Given the description of an element on the screen output the (x, y) to click on. 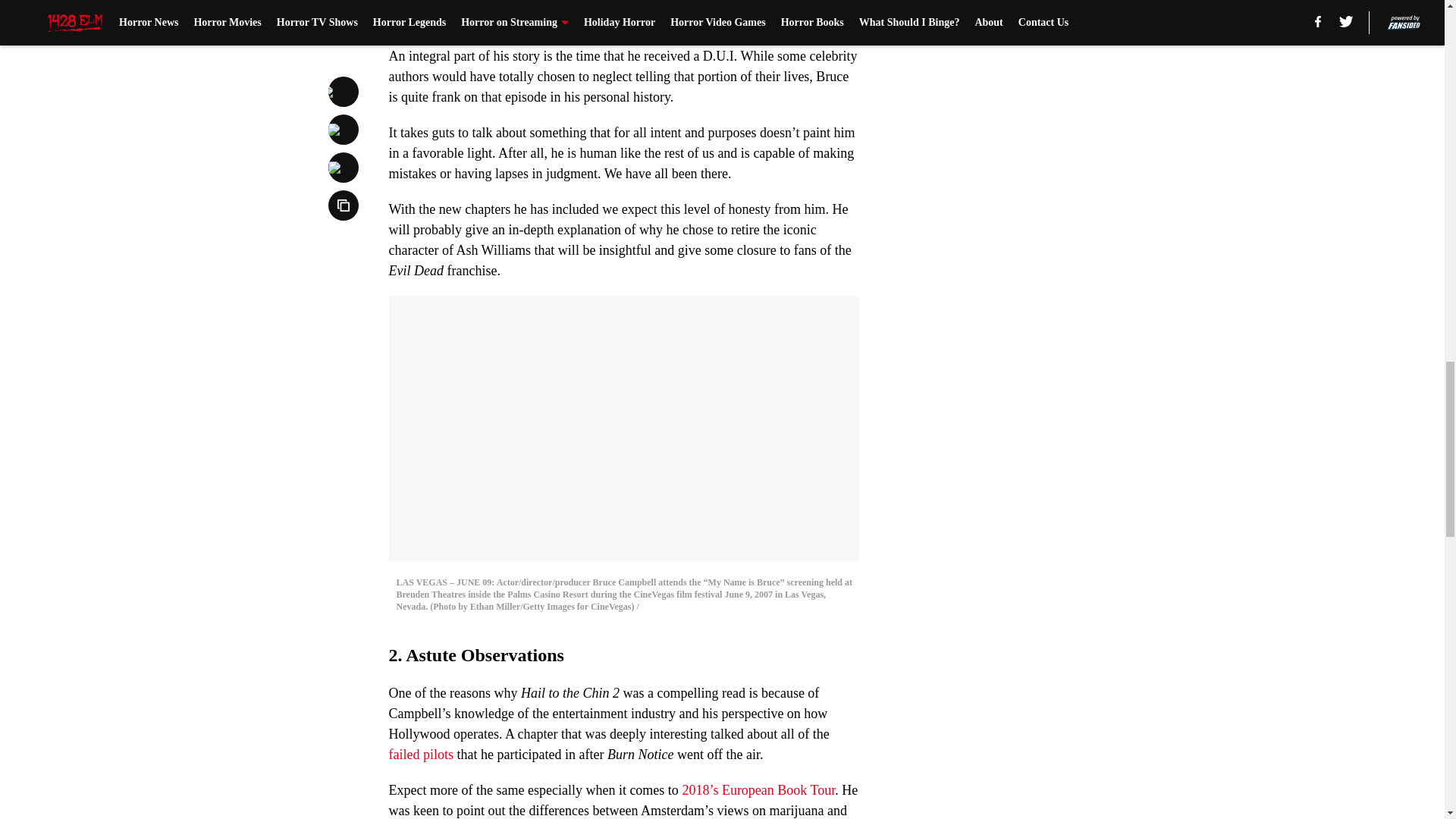
failed pilots (420, 754)
